Given the description of an element on the screen output the (x, y) to click on. 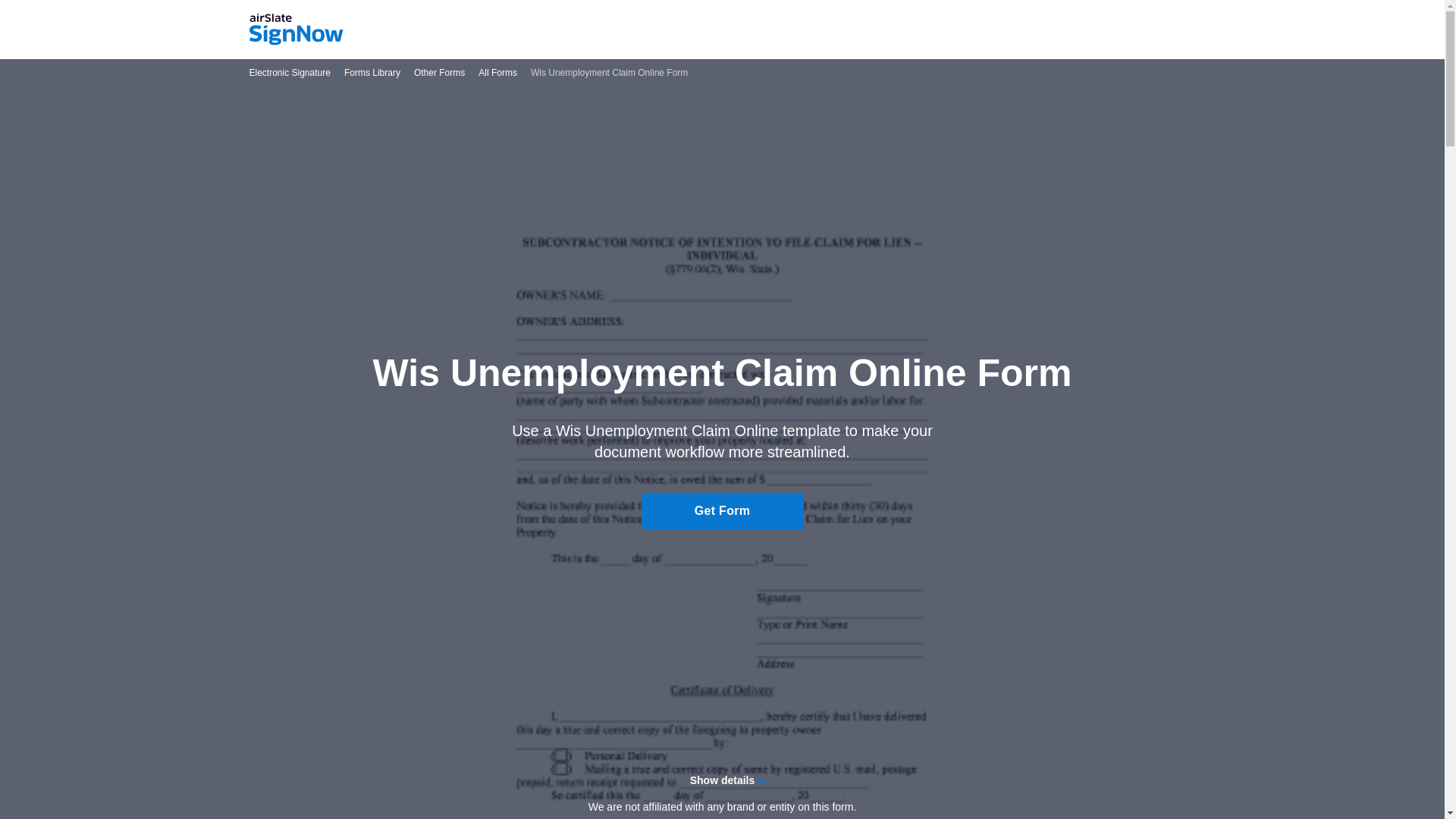
Show details (722, 780)
signNow (295, 29)
Other Forms (438, 73)
Forms Library (371, 73)
Electronic Signature (289, 73)
Get Form (722, 511)
All Forms (497, 73)
